Given the description of an element on the screen output the (x, y) to click on. 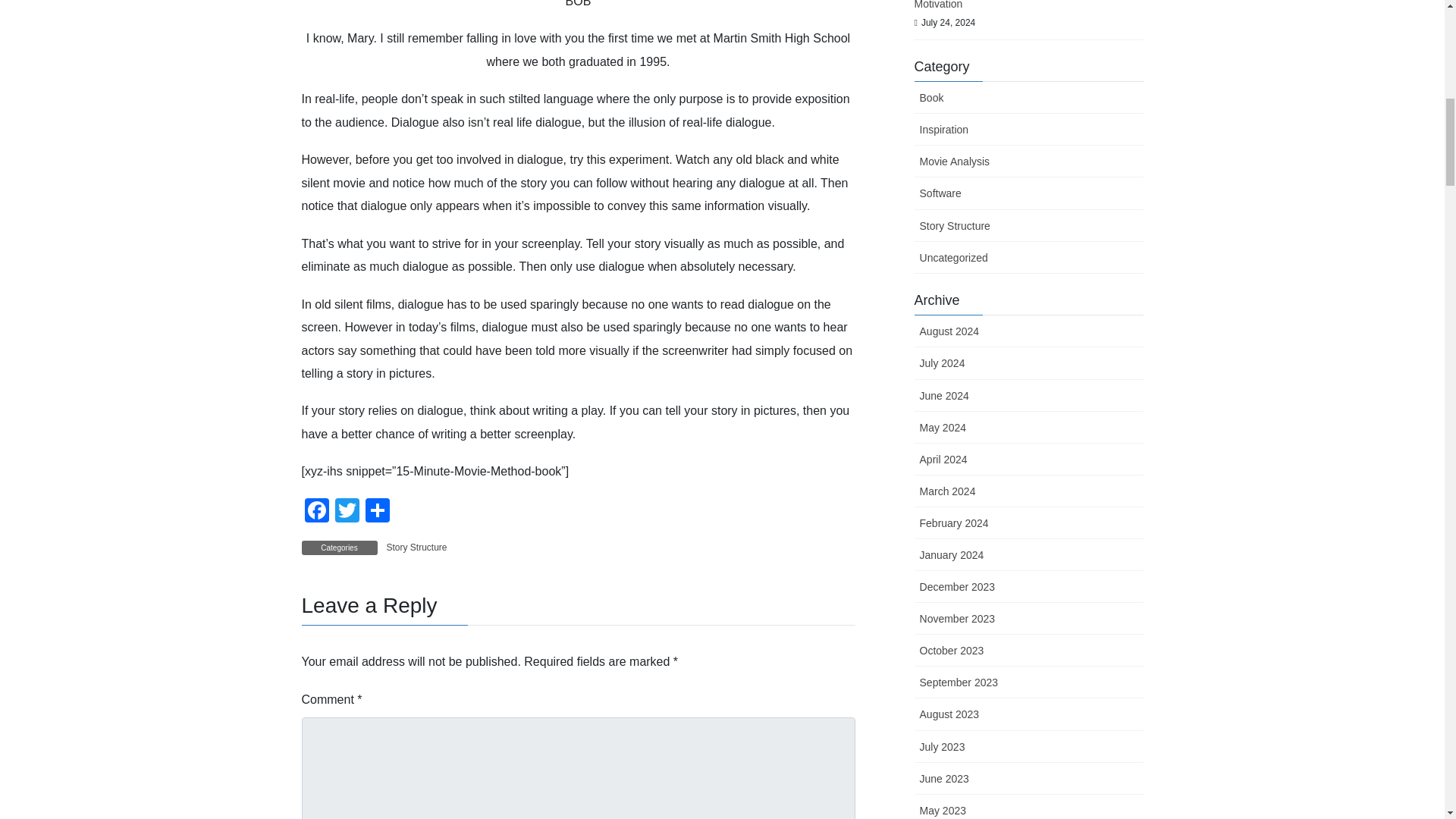
Story Structure (1028, 225)
Movie Analysis (1028, 161)
Book (1028, 97)
Software (1028, 193)
February 2024 (1028, 522)
May 2024 (1028, 427)
Twitter (346, 511)
Uncategorized (1028, 257)
August 2024 (1028, 331)
Twitter (346, 511)
